Given the description of an element on the screen output the (x, y) to click on. 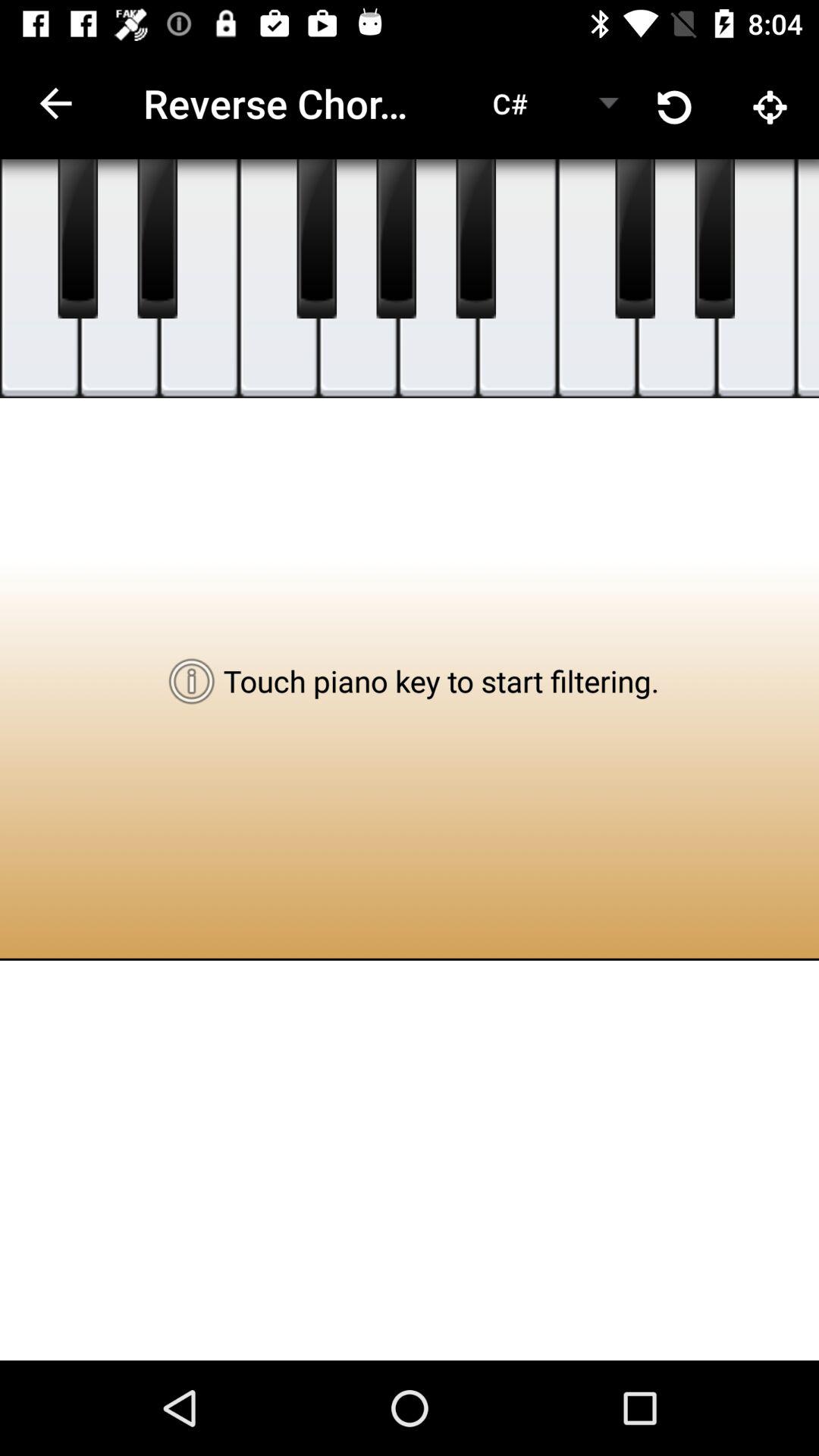
play note (437, 278)
